Given the description of an element on the screen output the (x, y) to click on. 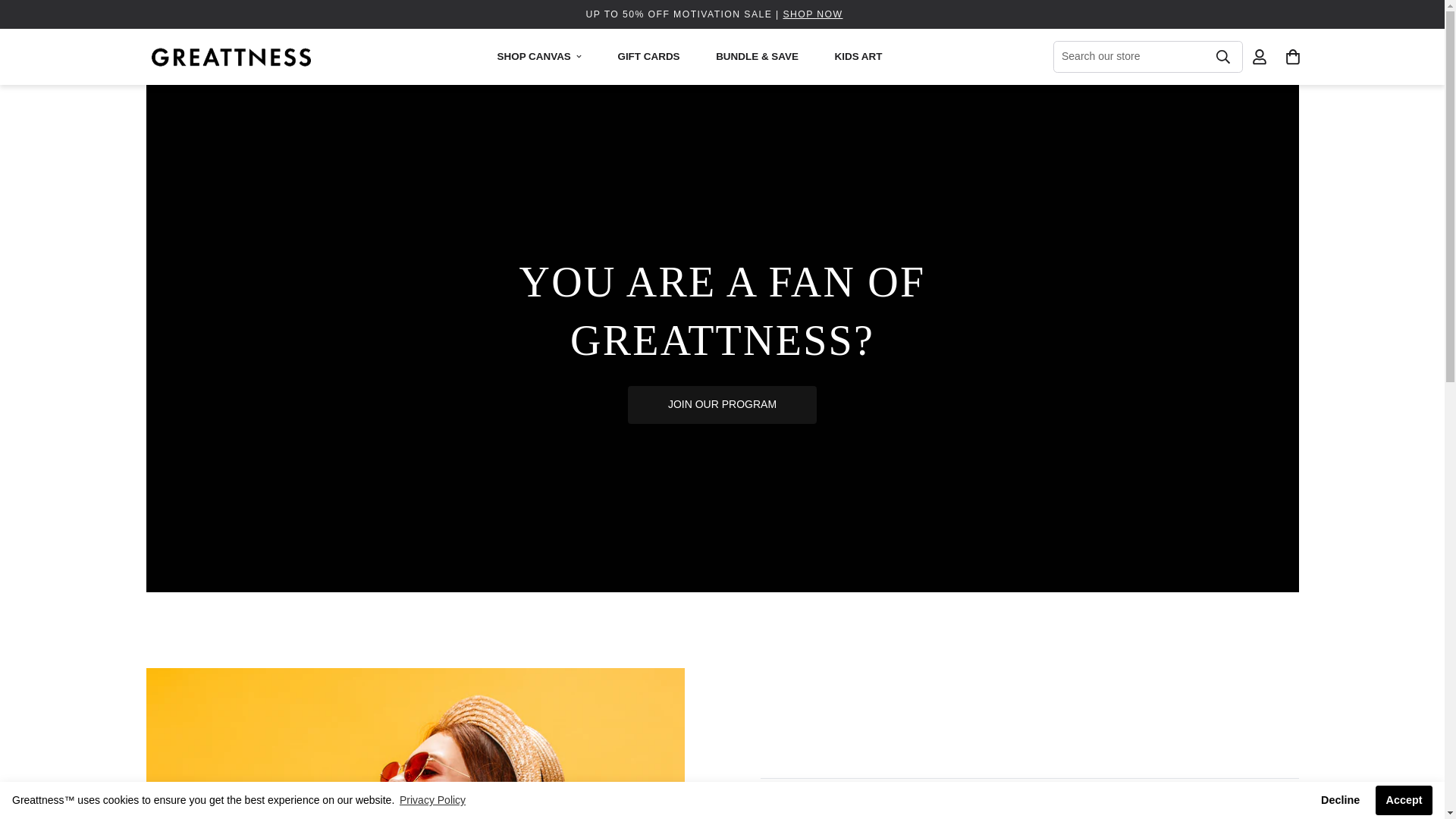
Decline (1340, 800)
Accept (1403, 800)
Privacy Policy (432, 799)
SHOP CANVAS (541, 55)
